Given the description of an element on the screen output the (x, y) to click on. 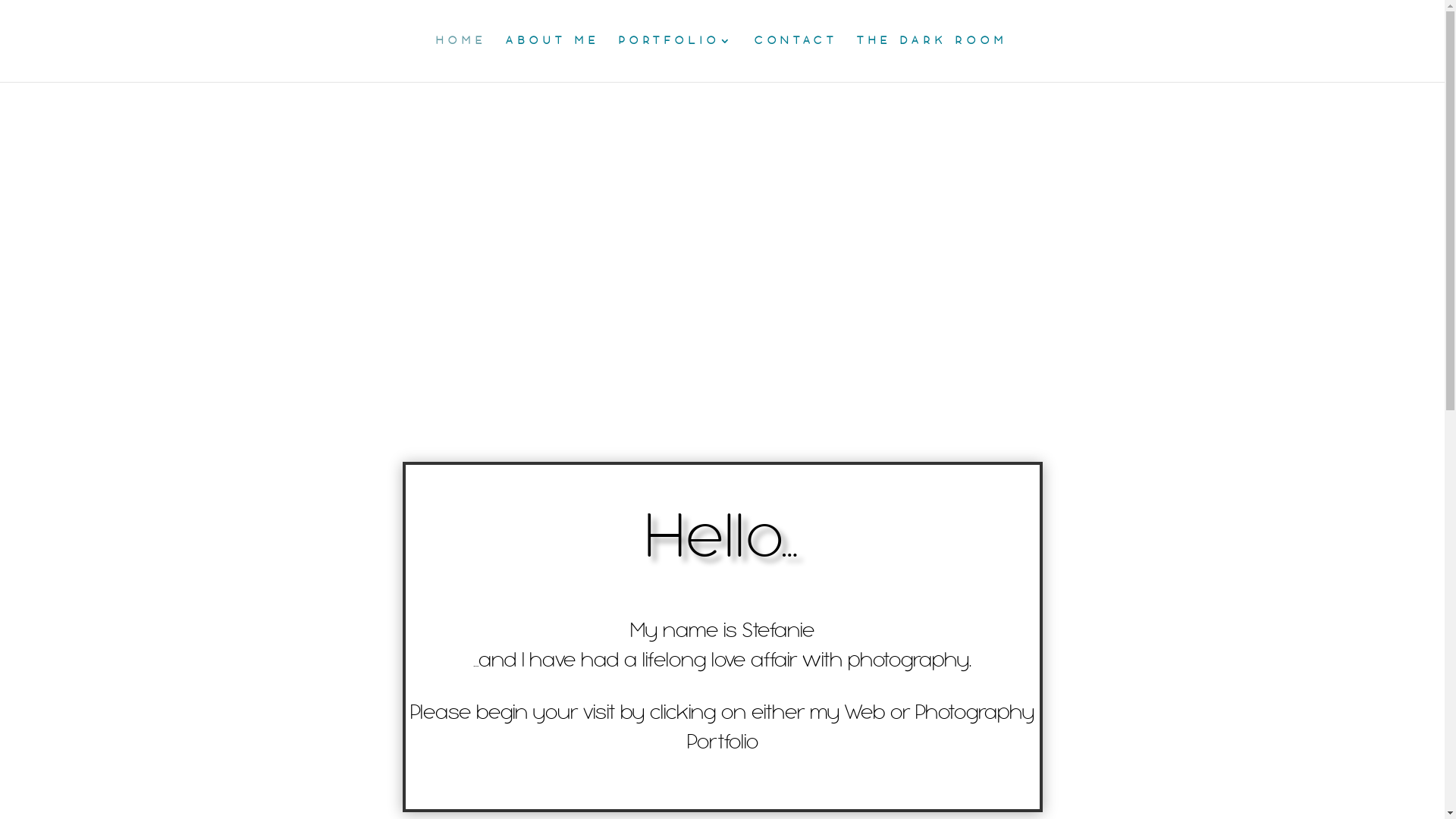
THE DARK ROOM Element type: text (931, 58)
ABOUT ME Element type: text (552, 58)
HOME Element type: text (460, 58)
PORTFOLIO Element type: text (676, 58)
CONTACT Element type: text (795, 58)
